Given the description of an element on the screen output the (x, y) to click on. 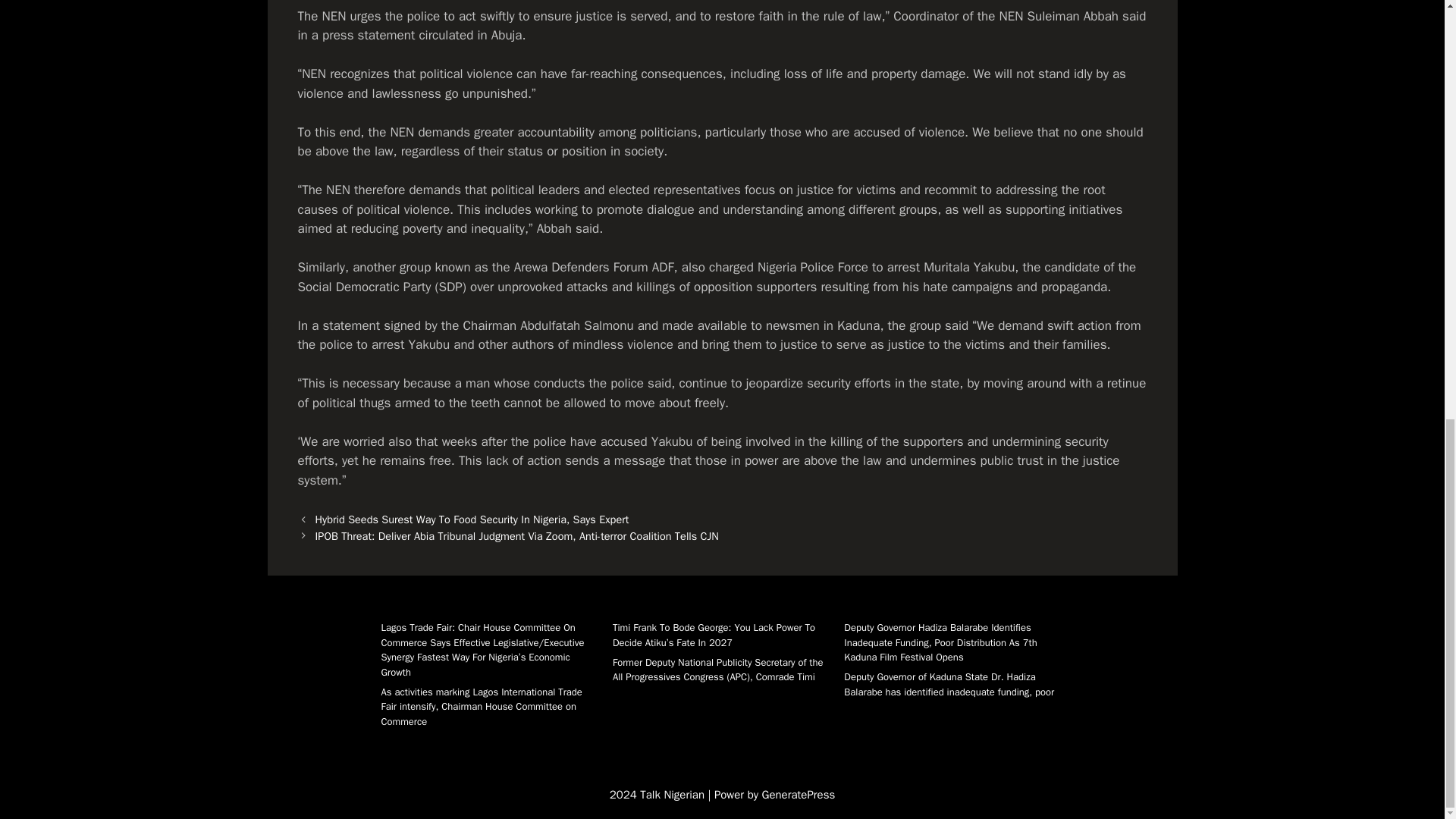
Talk Nigerian (673, 794)
GeneratePress (798, 794)
